Given the description of an element on the screen output the (x, y) to click on. 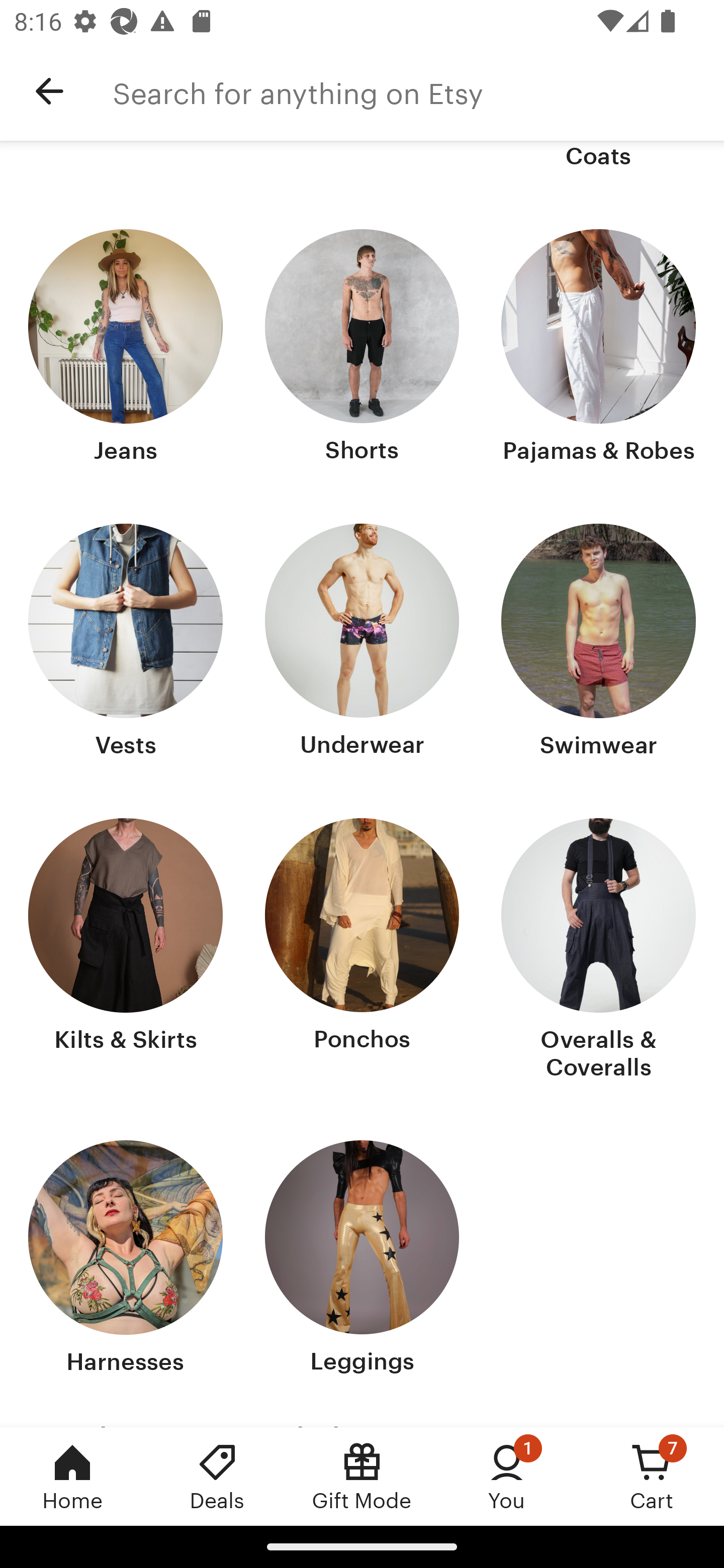
Navigate up (49, 91)
Search for anything on Etsy (418, 91)
Suits & Sport Coats (598, 156)
Jeans (125, 347)
Shorts (361, 347)
Pajamas & Robes (598, 347)
Vests (125, 642)
Underwear (361, 642)
Swimwear (598, 642)
Kilts & Skirts (125, 950)
Ponchos (361, 950)
Overalls & Coveralls (598, 950)
Harnesses (125, 1258)
Leggings (361, 1258)
Deals (216, 1475)
Gift Mode (361, 1475)
You, 1 new notification You (506, 1475)
Cart, 7 new notifications Cart (651, 1475)
